Given the description of an element on the screen output the (x, y) to click on. 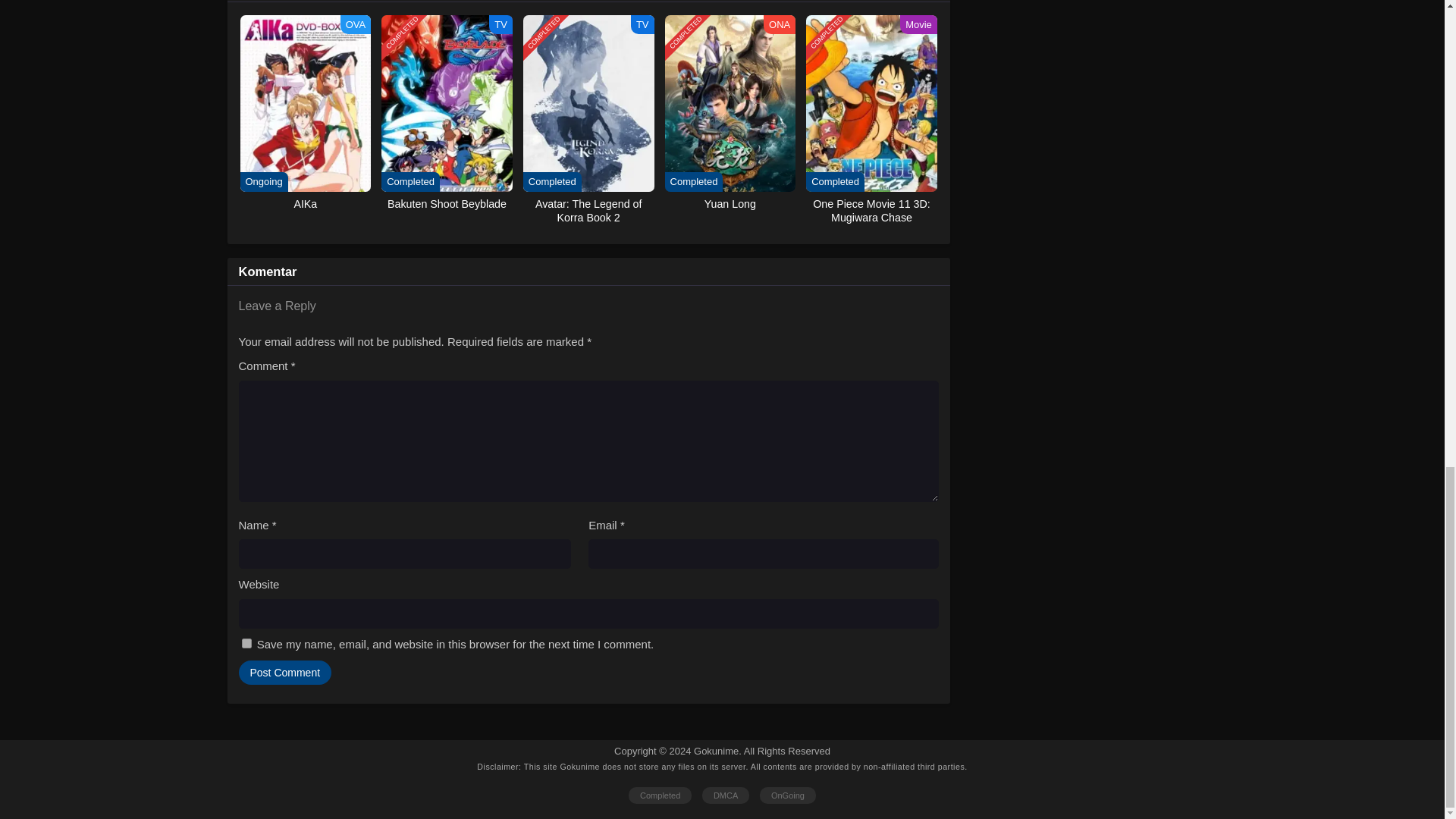
Post Comment (284, 672)
Post Comment (284, 672)
yes (245, 643)
